Given the description of an element on the screen output the (x, y) to click on. 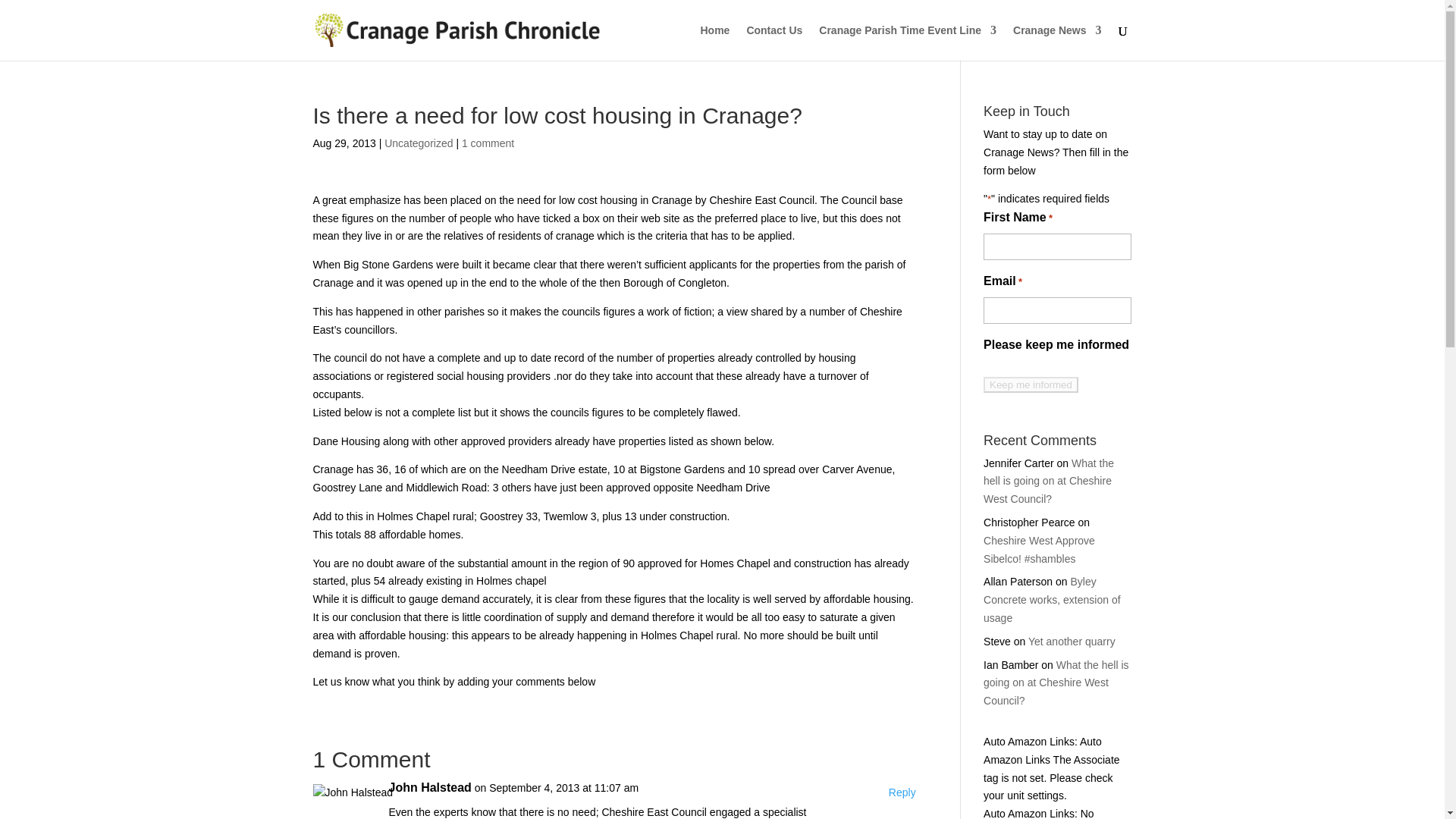
1 comment (487, 143)
Reply (901, 792)
Yet another quarry (1071, 641)
Uncategorized (418, 143)
Contact Us (773, 42)
What the hell is going on at Cheshire West Council? (1056, 683)
Keep me informed (1031, 384)
Byley Concrete works, extension of usage (1052, 599)
Cranage News (1056, 42)
Keep me informed (1031, 384)
